Given the description of an element on the screen output the (x, y) to click on. 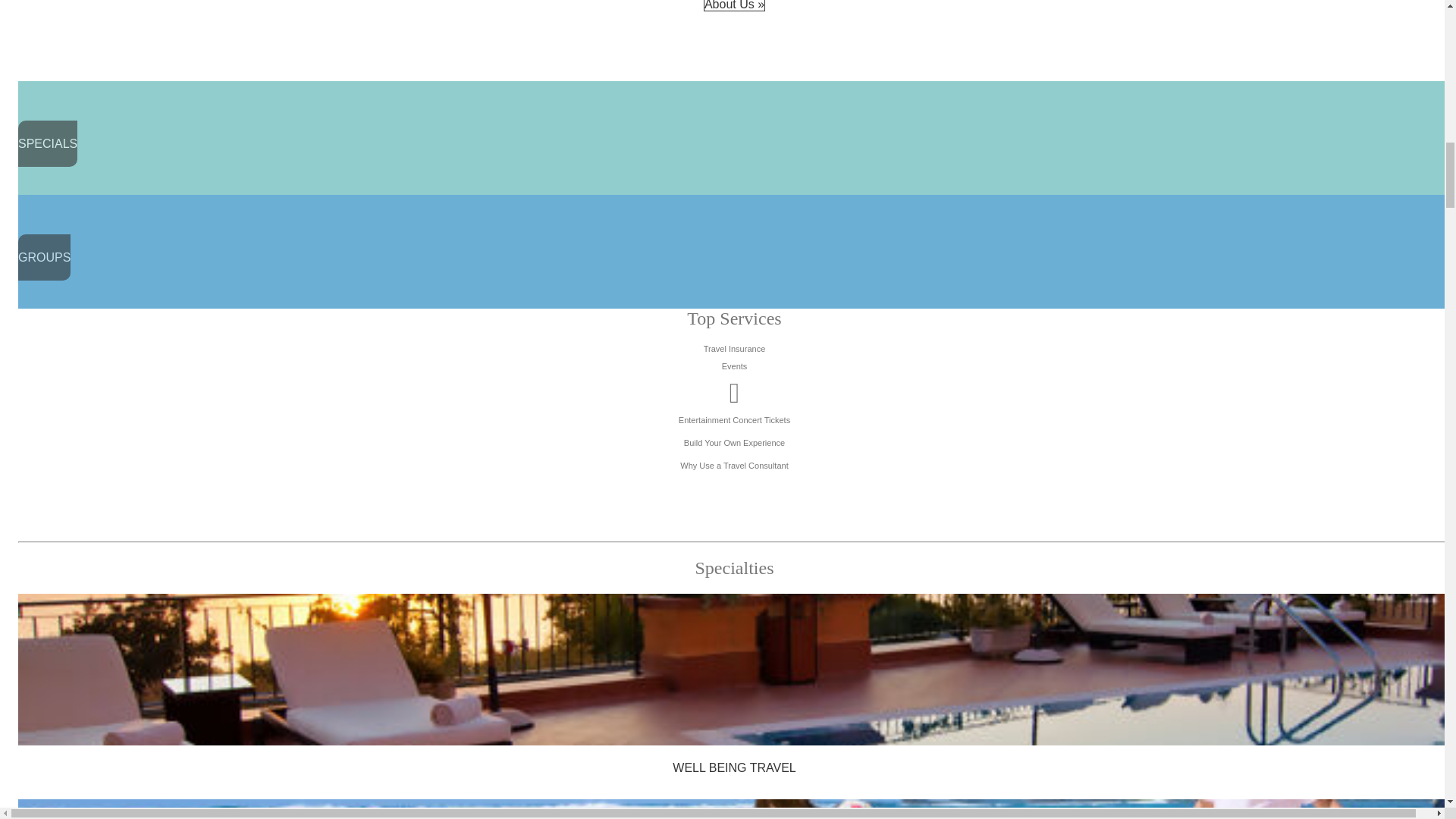
FAMILY VACATIONS (733, 809)
Entertainment Concert Tickets (733, 409)
